Given the description of an element on the screen output the (x, y) to click on. 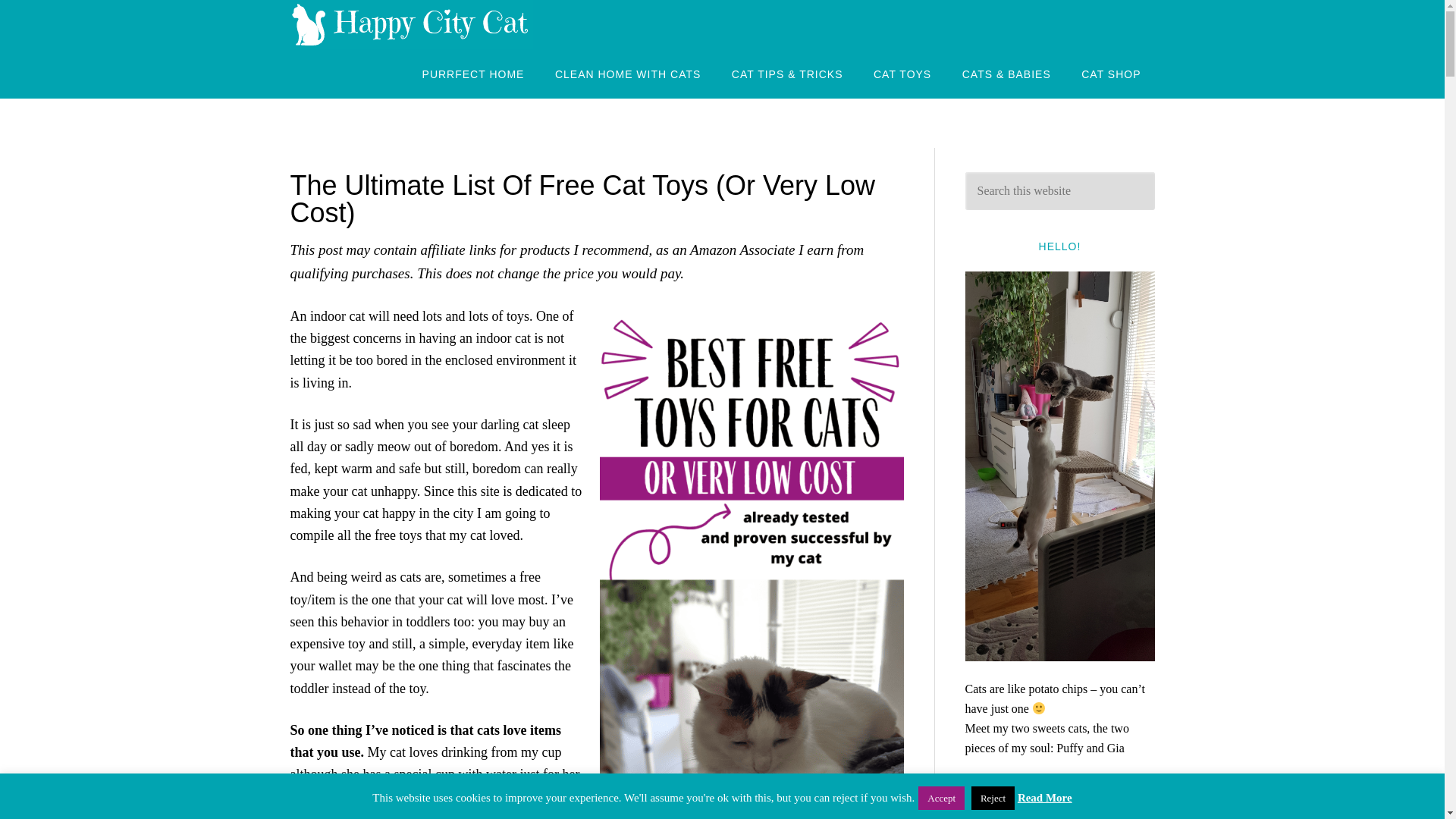
CAT TOYS (902, 73)
PURRFECT HOME (473, 73)
HAPPY CITY CAT (410, 24)
CAT SHOP (1110, 73)
CLEAN HOME WITH CATS (627, 73)
